Given the description of an element on the screen output the (x, y) to click on. 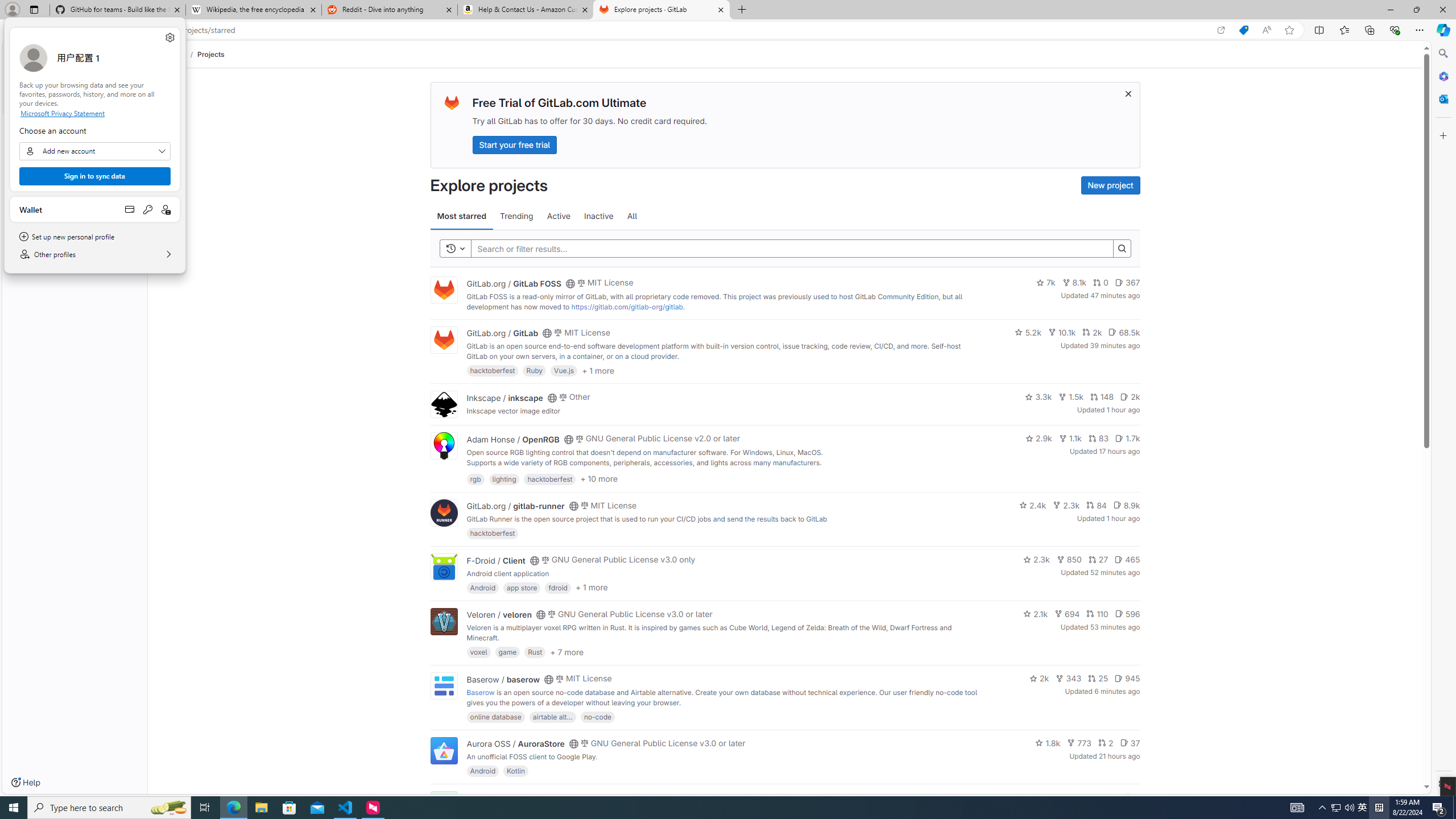
1 (1111, 797)
Manage profile settings (169, 37)
voxel (478, 651)
Trending (516, 216)
Class: s16 gl-icon gl-button-icon  (1127, 93)
2k (1039, 678)
https://openrgb.org (563, 472)
Open personal info (165, 208)
F (443, 805)
Choose an account (94, 151)
2.4k (1032, 504)
